Given the description of an element on the screen output the (x, y) to click on. 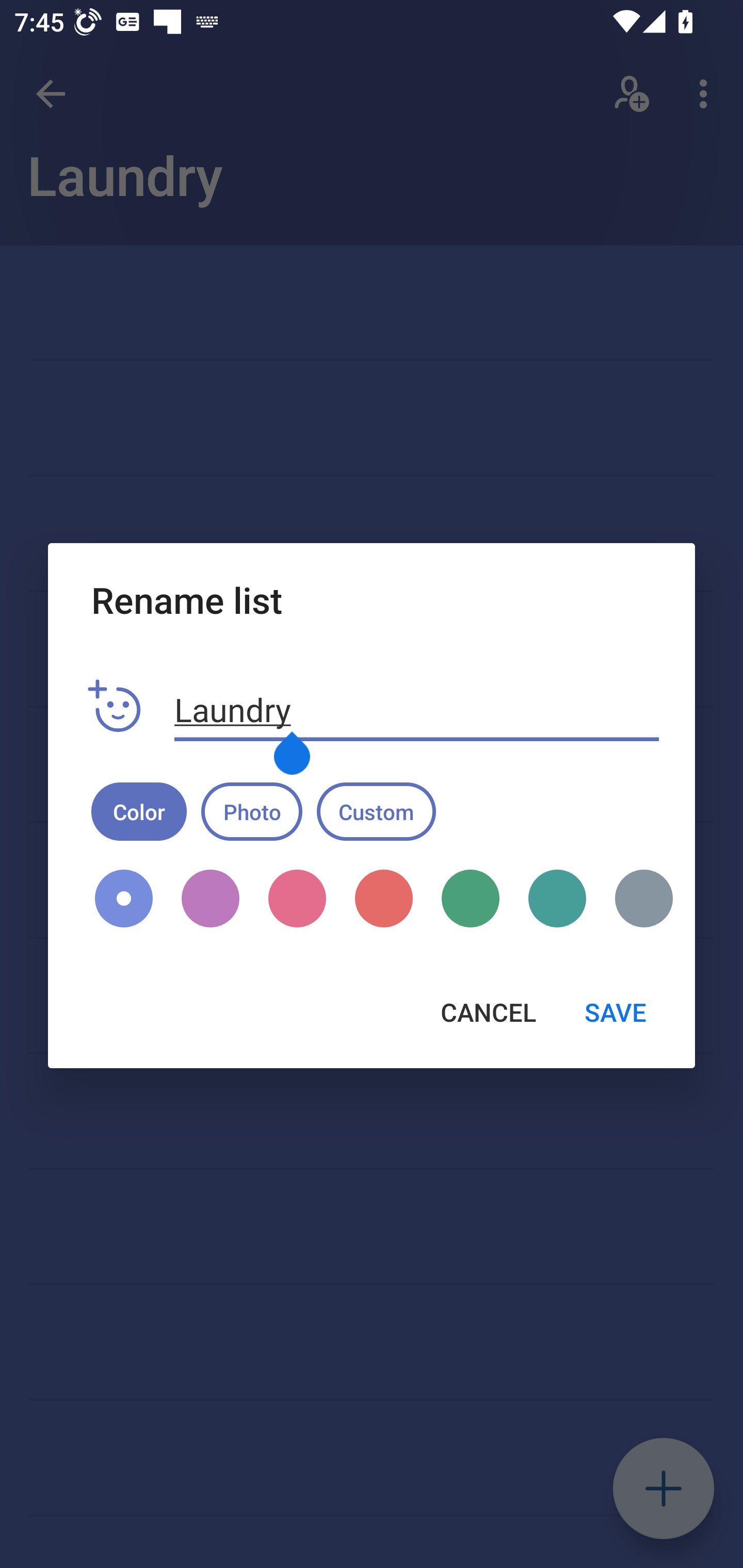
Set Emoji (114, 706)
Laundry (416, 710)
Color Color category (138, 811)
Photo Photo category (251, 811)
Custom Custom category (376, 811)
Selected, Dark blue (123, 898)
Dark purple (210, 898)
Dark rose (297, 898)
Dark red (383, 898)
Dark green (470, 898)
Dark teal (557, 898)
Dark grey (636, 898)
CANCEL (488, 1011)
SAVE (615, 1011)
